Given the description of an element on the screen output the (x, y) to click on. 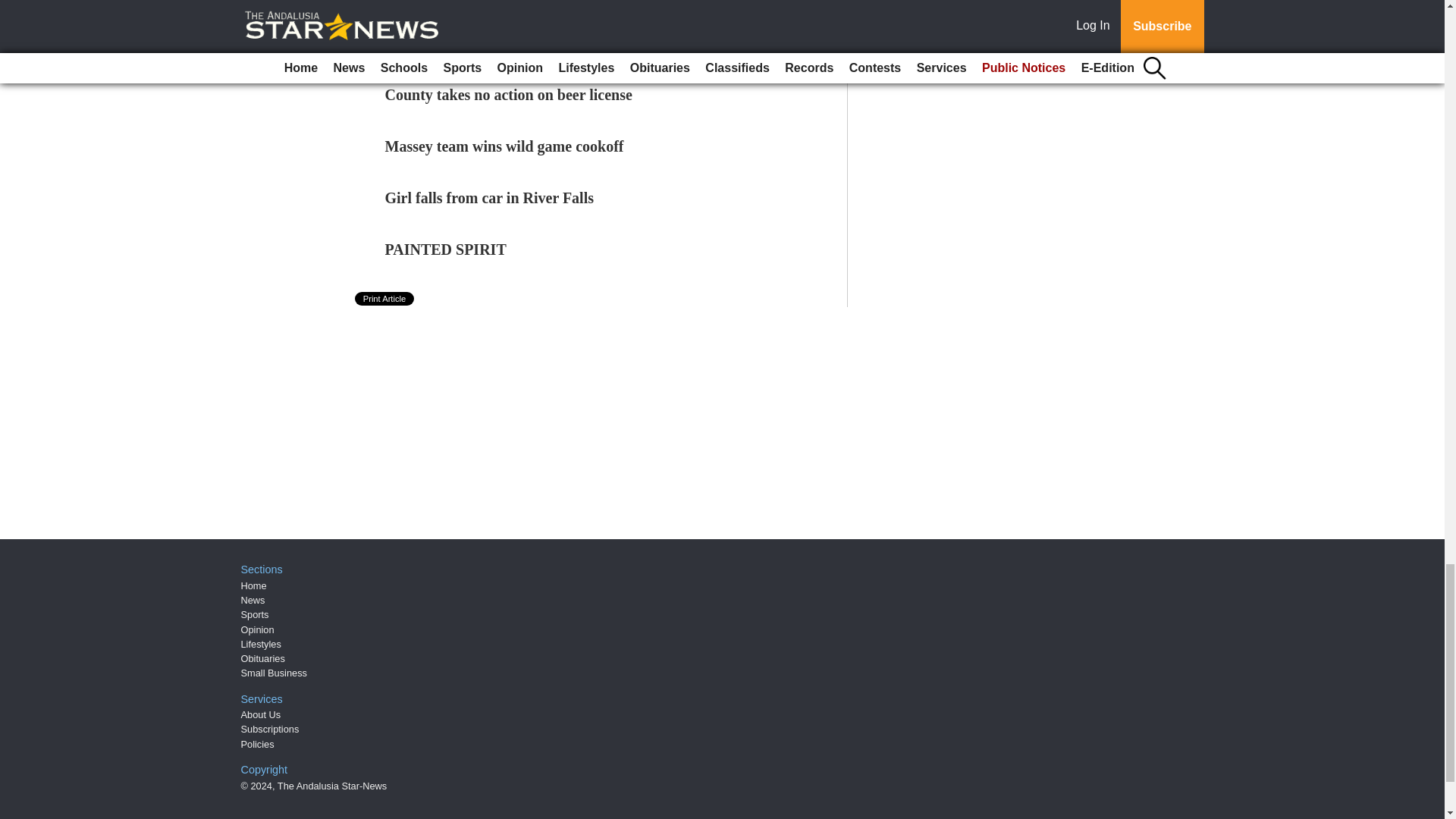
Obituaries (263, 658)
Print Article (384, 298)
Subscriptions (270, 728)
News (252, 600)
Girl falls from car in River Falls (489, 197)
Opinion (258, 629)
County takes no action on beer license (508, 94)
Home (253, 585)
Girl falls from car in River Falls (489, 197)
Massey team wins wild game cookoff (504, 146)
Massey team wins wild game cookoff (504, 146)
County takes no action on beer license (508, 94)
About Us (261, 714)
